Given the description of an element on the screen output the (x, y) to click on. 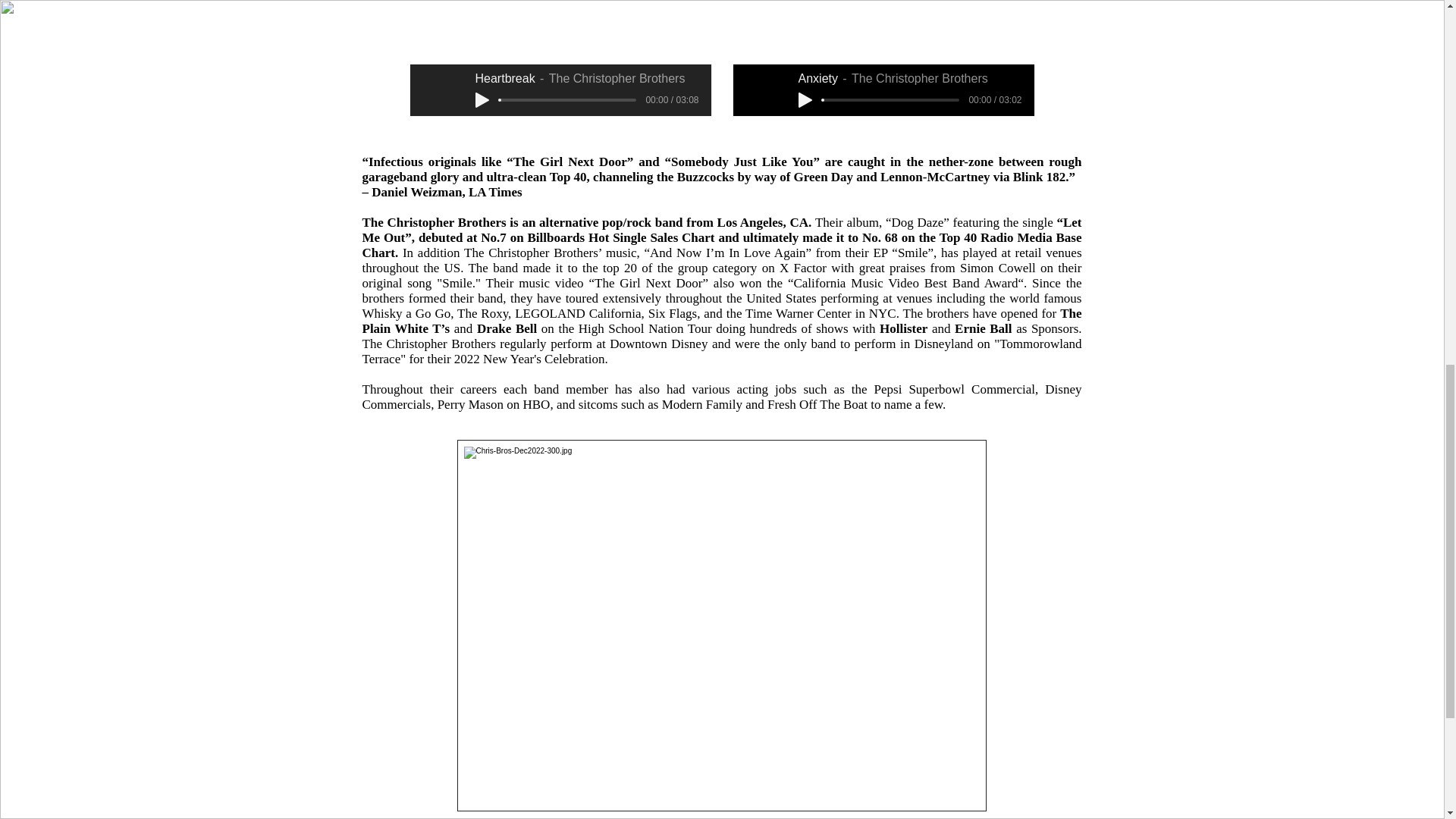
0 (890, 99)
0 (567, 99)
